Given the description of an element on the screen output the (x, y) to click on. 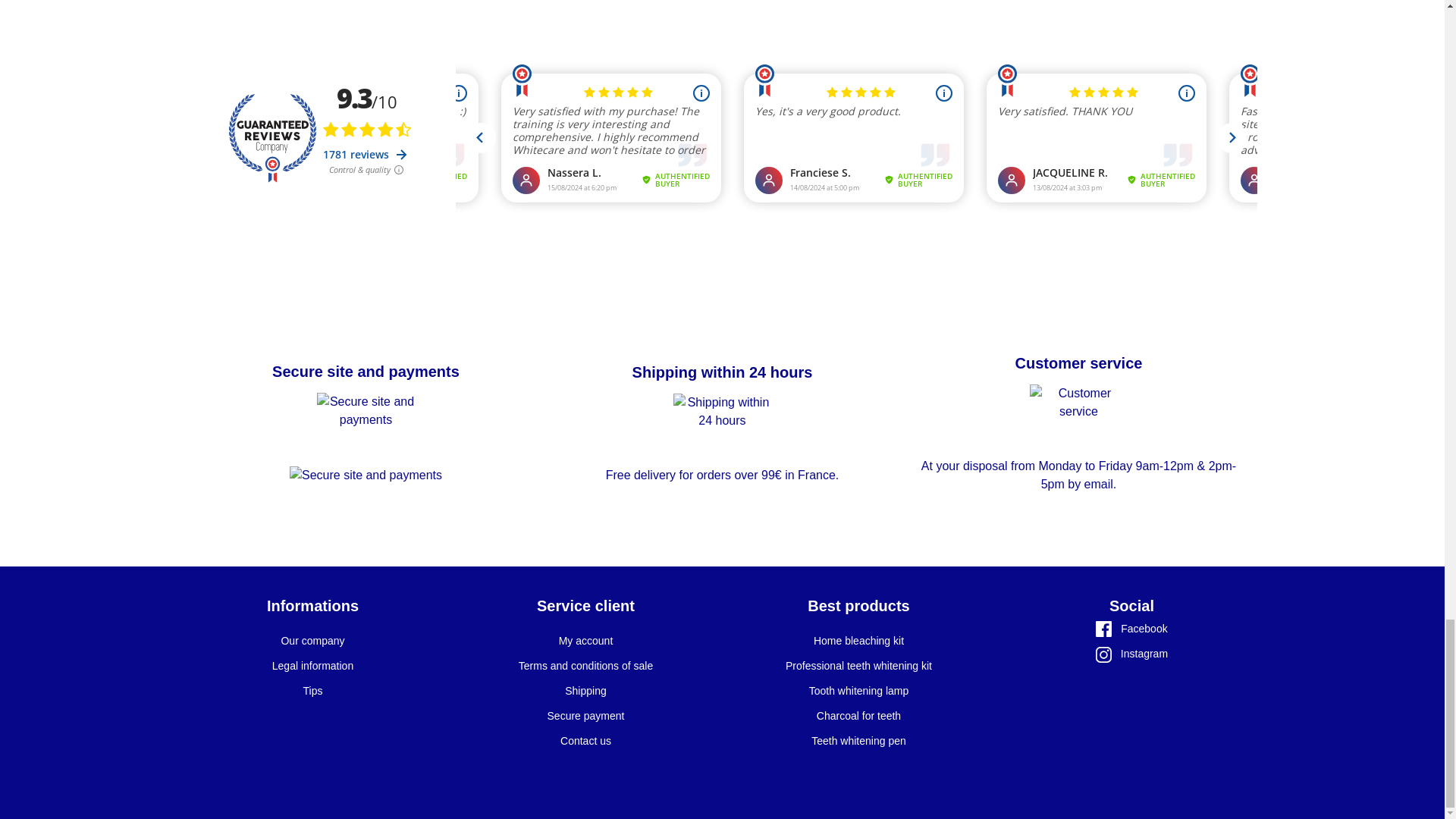
Secure site and payments (366, 371)
Tips (312, 690)
Customer service (1078, 362)
Shipping within 24 hours (721, 372)
